Given the description of an element on the screen output the (x, y) to click on. 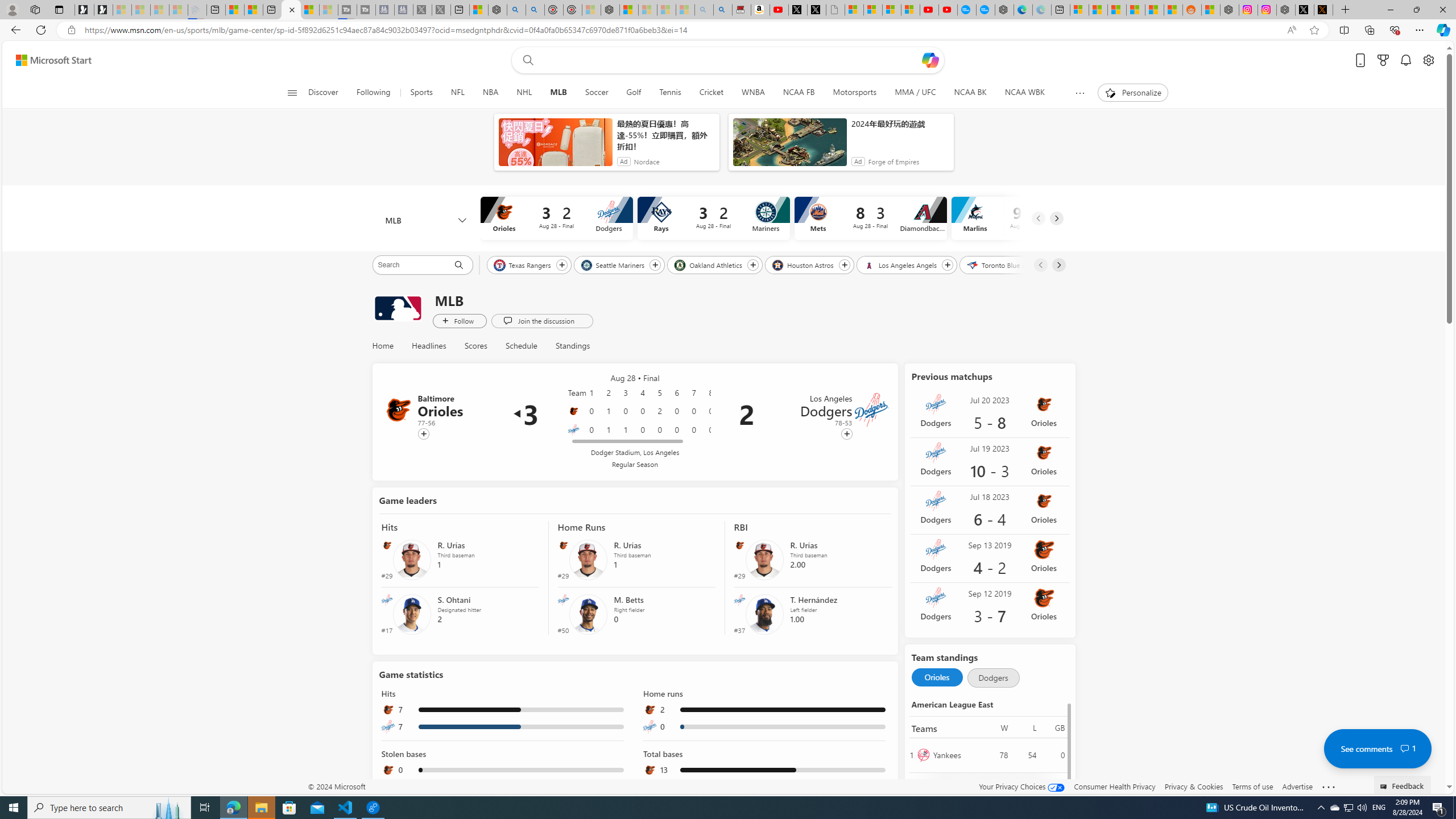
WNBA (752, 92)
Golf (633, 92)
Shanghai, China hourly forecast | Microsoft Weather (1116, 9)
Previous (1039, 264)
Golf (634, 92)
Orioles (573, 410)
Marlins 9 vs Rockies 8Final Date Aug 28 (1026, 217)
Orioles (957, 789)
Privacy & Cookies (1193, 786)
Advertise (1297, 785)
MLB (425, 220)
